Given the description of an element on the screen output the (x, y) to click on. 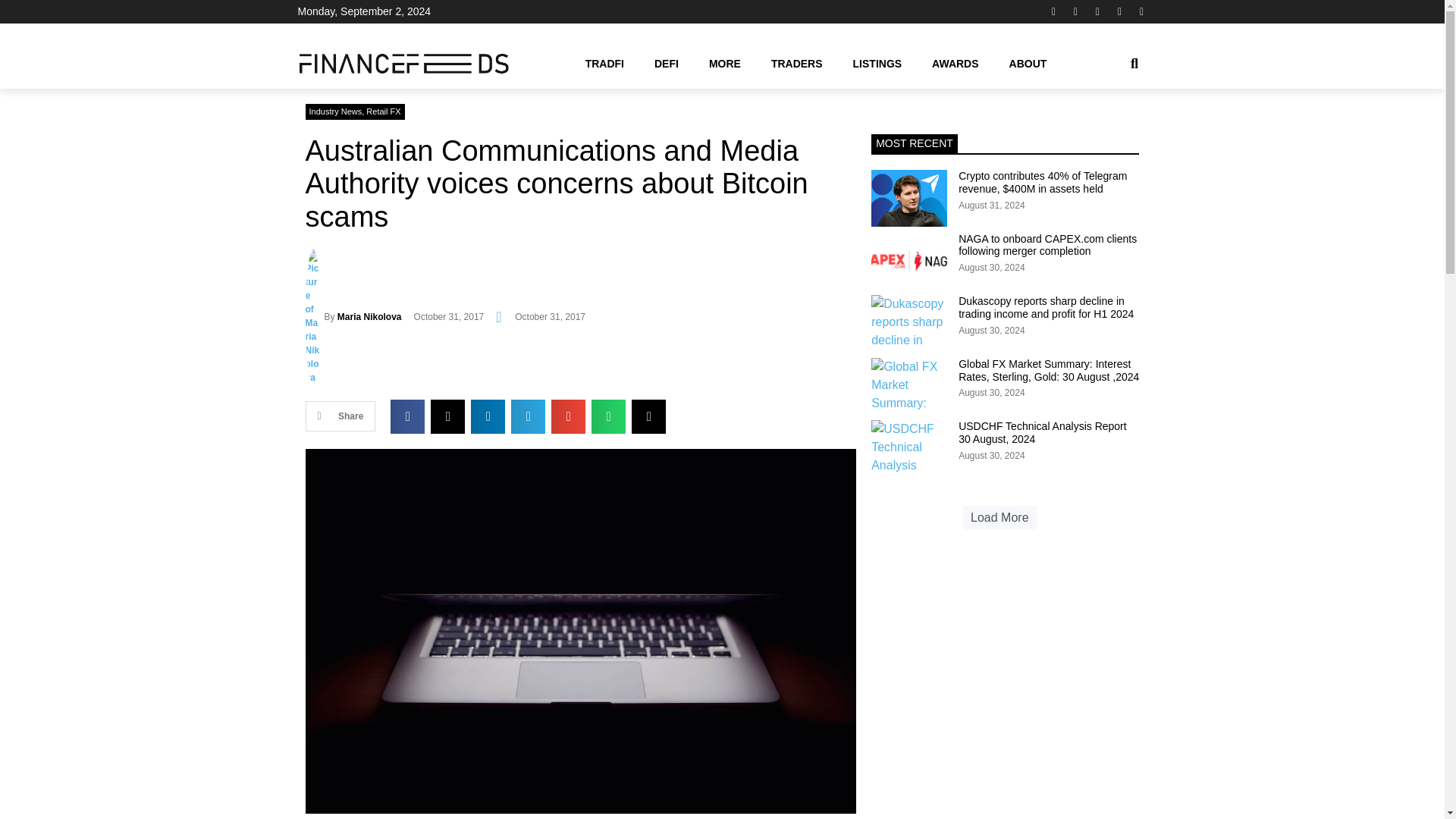
TRADFI (604, 63)
ABOUT (1028, 63)
LISTINGS (877, 63)
AWARDS (954, 63)
MORE (724, 63)
TRADERS (796, 63)
DEFI (666, 63)
